Given the description of an element on the screen output the (x, y) to click on. 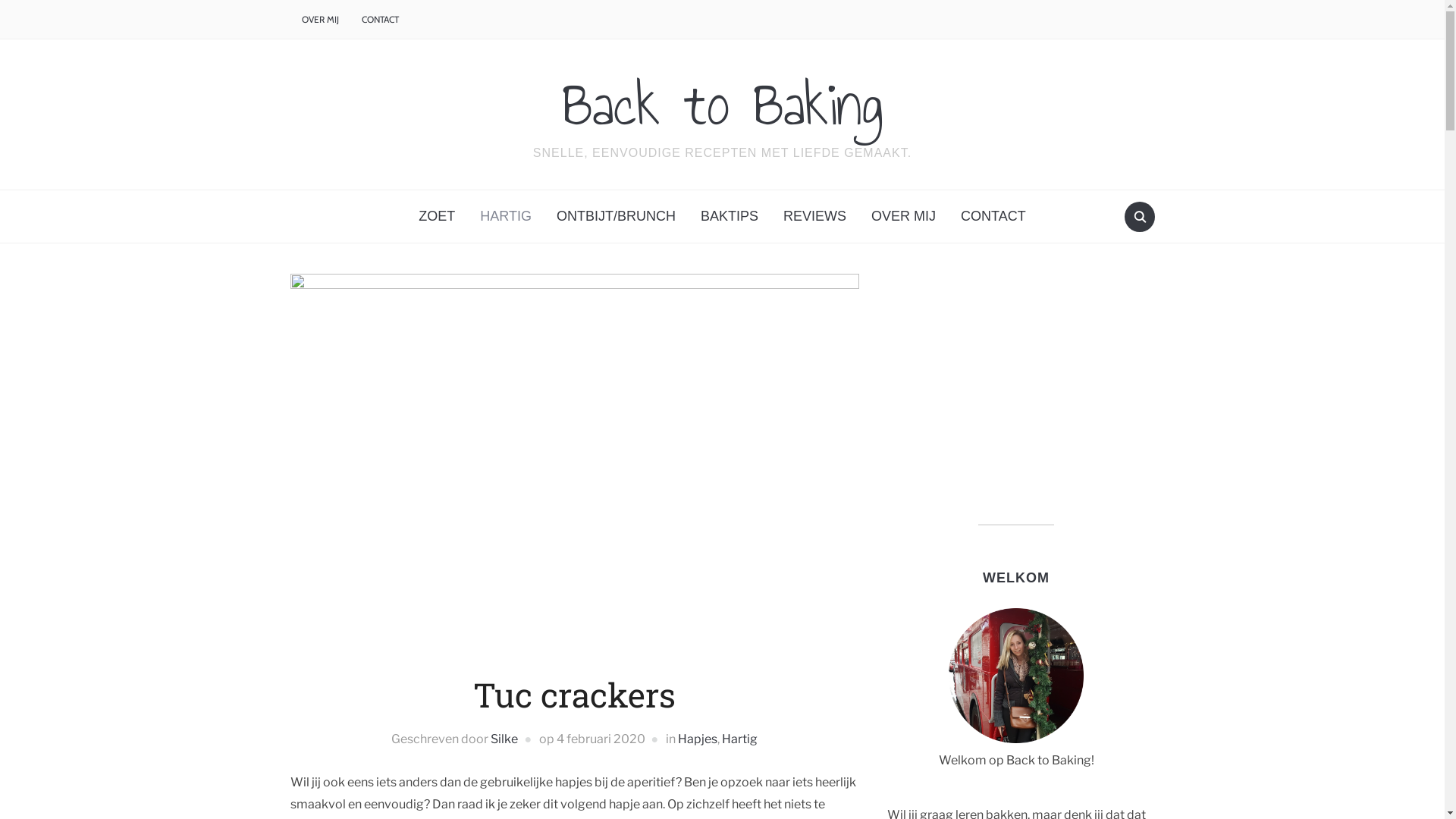
CONTACT Element type: text (993, 216)
Hartig Element type: text (739, 738)
ONTBIJT/BRUNCH Element type: text (616, 216)
Back to Baking Element type: text (721, 104)
HARTIG Element type: text (505, 216)
OVER MIJ Element type: text (903, 216)
Hapjes Element type: text (697, 738)
BAKTIPS Element type: text (729, 216)
Silke Element type: text (503, 738)
Advertisement Element type: hover (1016, 379)
OVER MIJ Element type: text (319, 19)
REVIEWS Element type: text (814, 216)
CONTACT Element type: text (380, 19)
Zoek Element type: text (1138, 216)
ZOET Element type: text (436, 216)
